Given the description of an element on the screen output the (x, y) to click on. 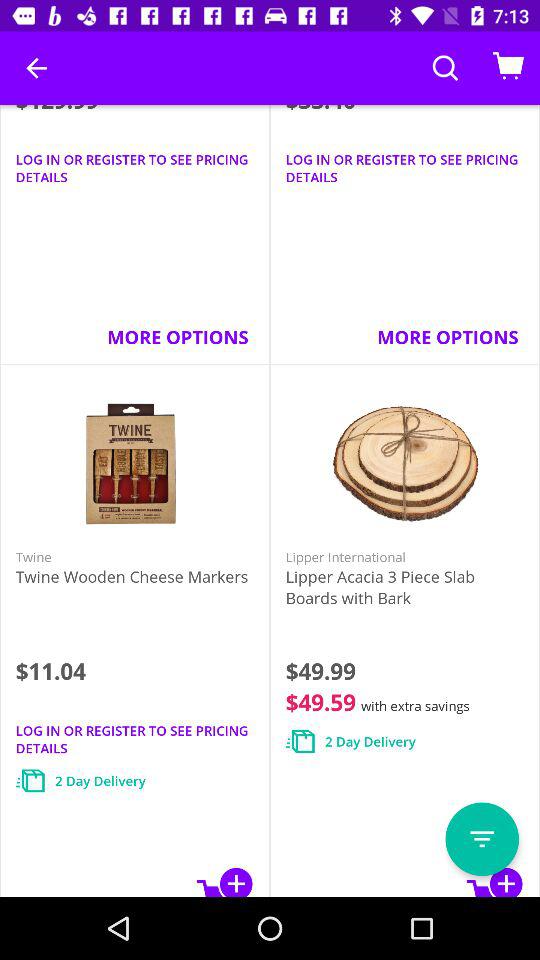
select the image which is above the lipper international (404, 464)
click on the filter icon to the bottom right corner (482, 839)
